Given the description of an element on the screen output the (x, y) to click on. 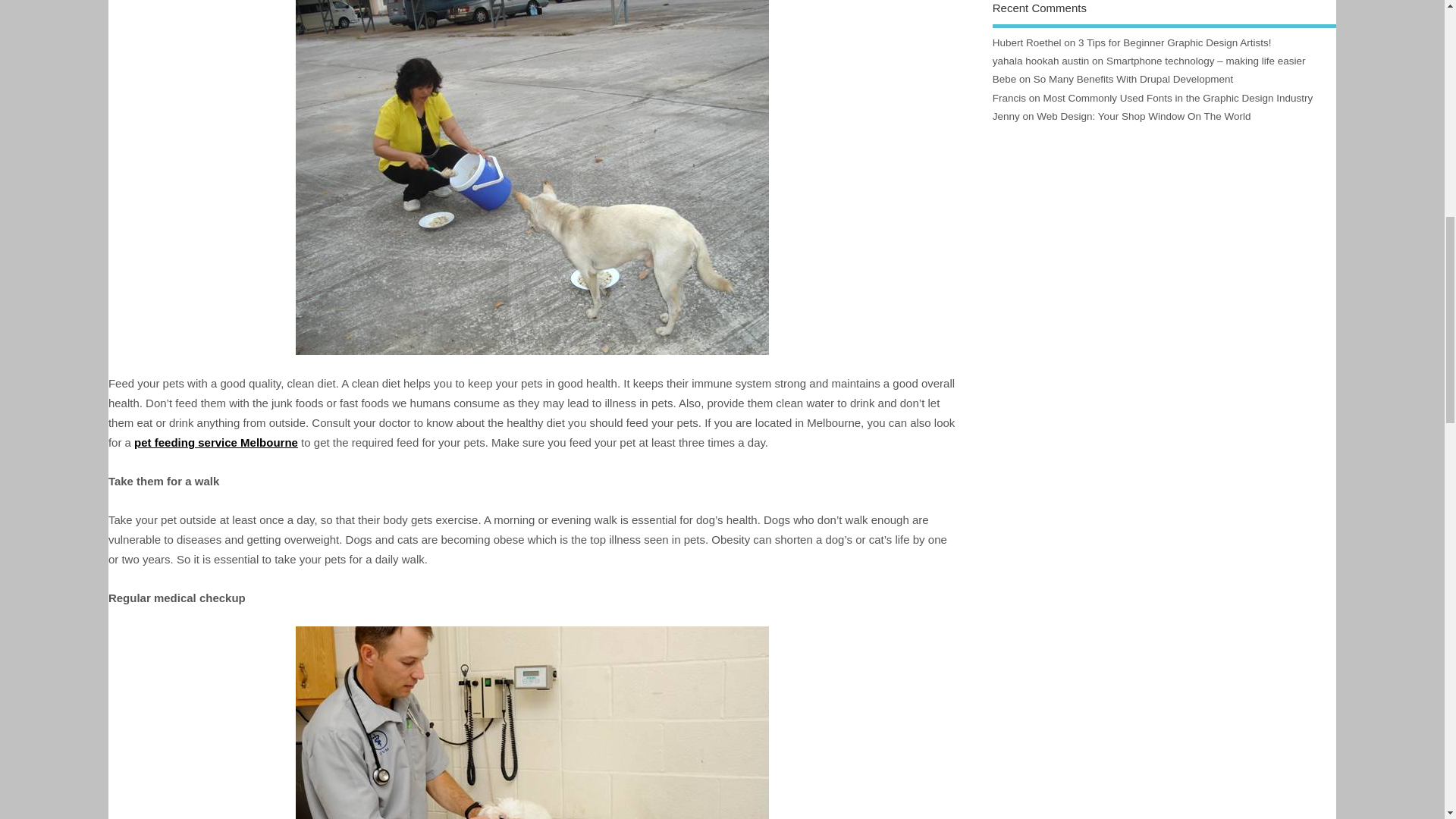
pet feeding service Melbourne (215, 441)
